Given the description of an element on the screen output the (x, y) to click on. 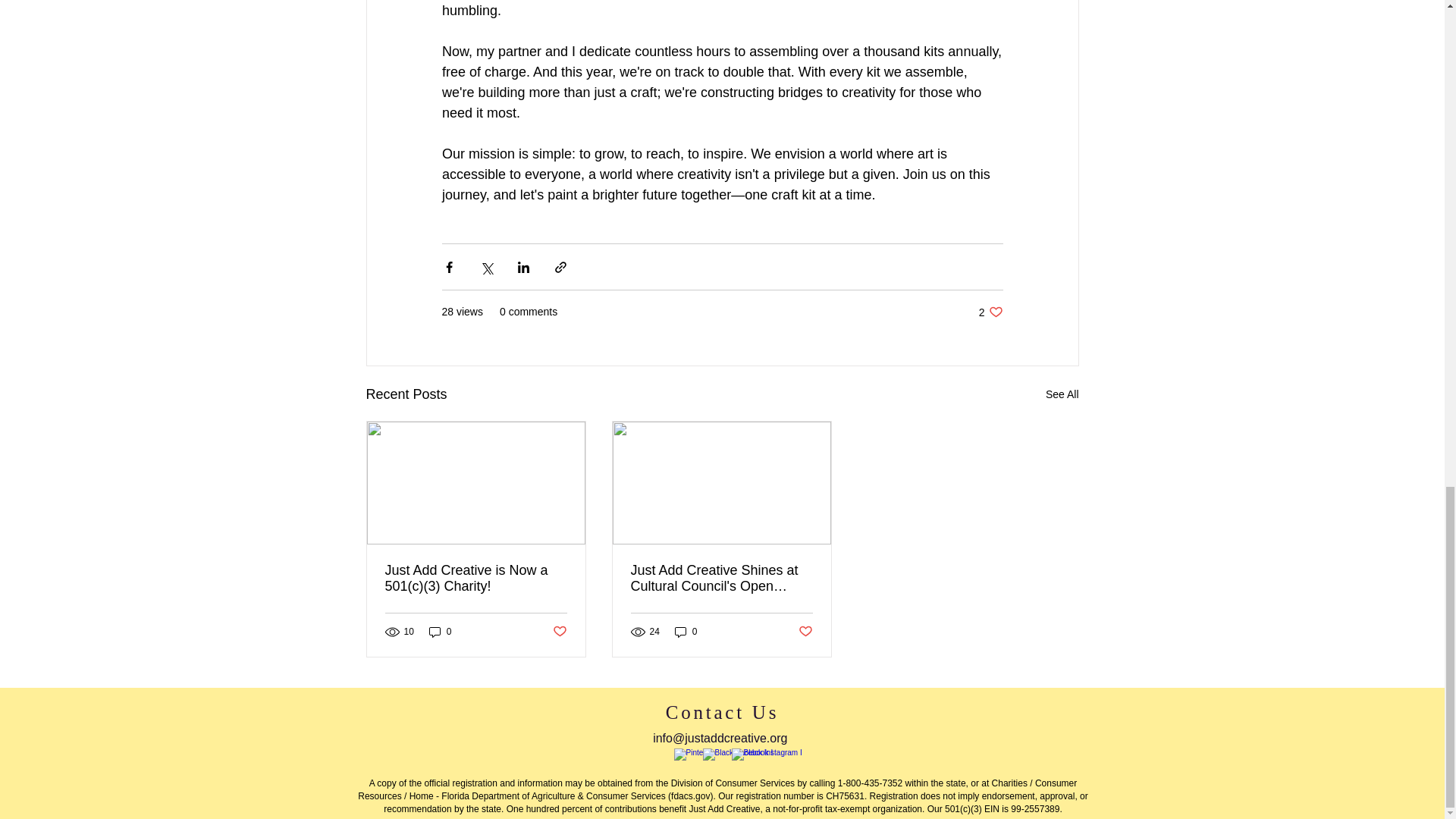
See All (1061, 394)
0 (990, 311)
0 (440, 631)
Post not marked as liked (685, 631)
Post not marked as liked (804, 631)
